Given the description of an element on the screen output the (x, y) to click on. 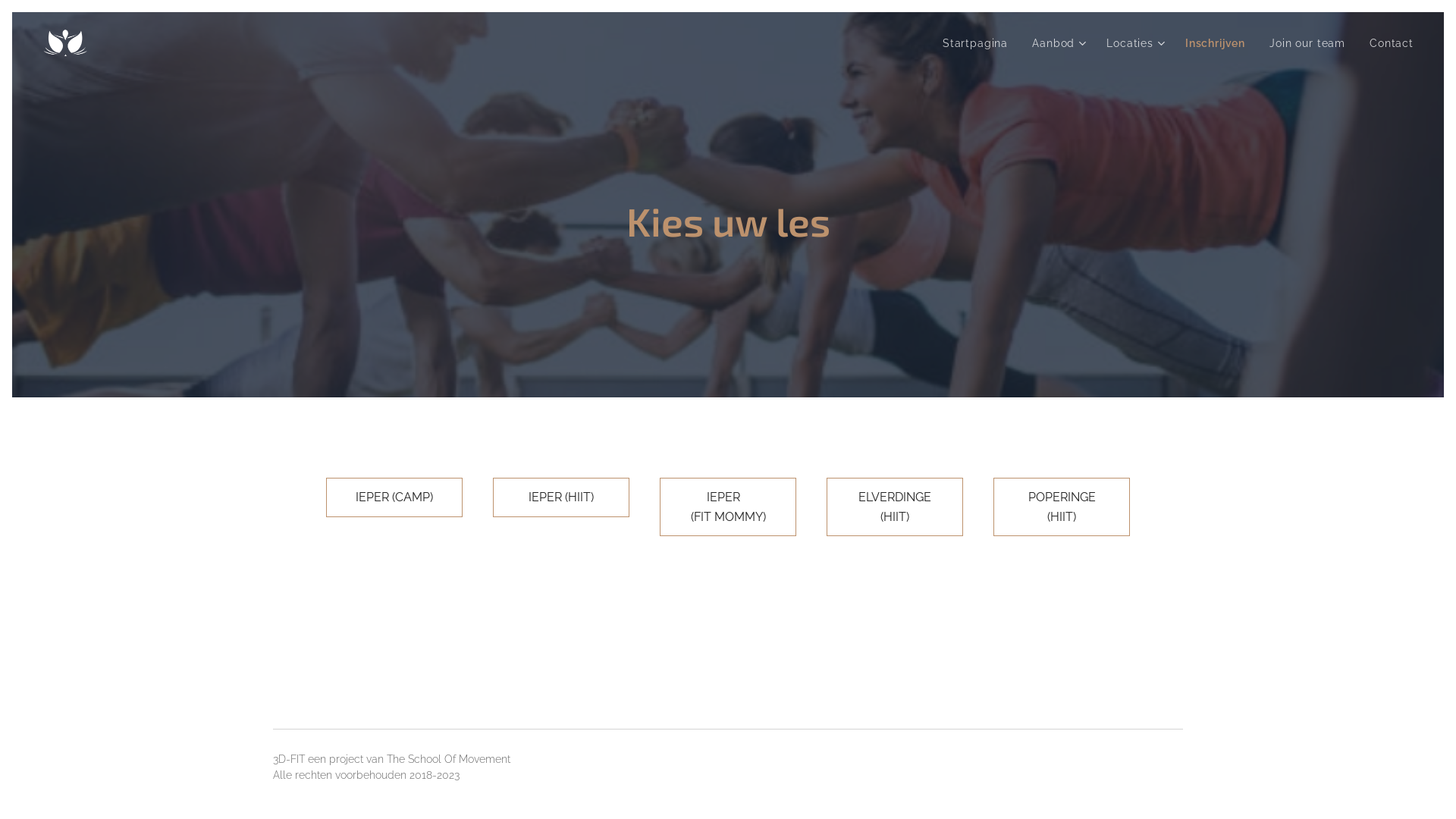
Join our team Element type: text (1307, 43)
IEPER (CAMP) Element type: text (394, 497)
IEPER (HIIT) Element type: text (560, 497)
Startpagina Element type: text (978, 43)
ELVERDINGE (HIIT) Element type: text (894, 506)
Contact Element type: text (1385, 43)
Aanbod Element type: text (1056, 43)
       IEPER            (FIT MOMMY)  Element type: text (727, 506)
Inschrijven Element type: text (1215, 43)
POPERINGE (HIIT) Element type: text (1061, 506)
Locaties Element type: text (1133, 43)
